Given the description of an element on the screen output the (x, y) to click on. 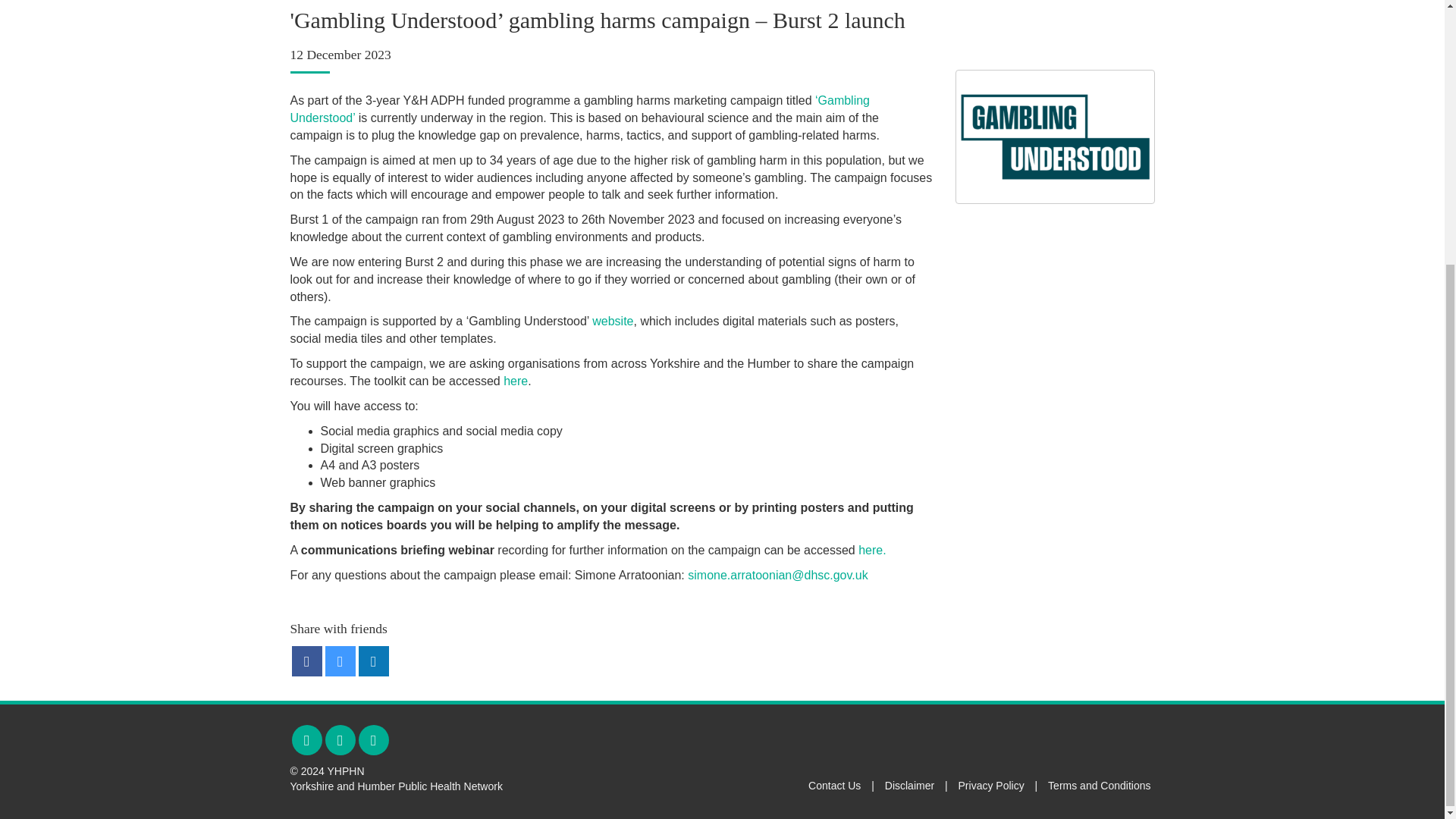
Instagram (339, 739)
Disclaimer (909, 785)
Contact Us (834, 785)
Share on LinkedIn (373, 661)
Twitter (306, 739)
Terms and Conditions (1099, 785)
website (612, 320)
here (515, 380)
YouTube (373, 739)
here. (872, 549)
